Given the description of an element on the screen output the (x, y) to click on. 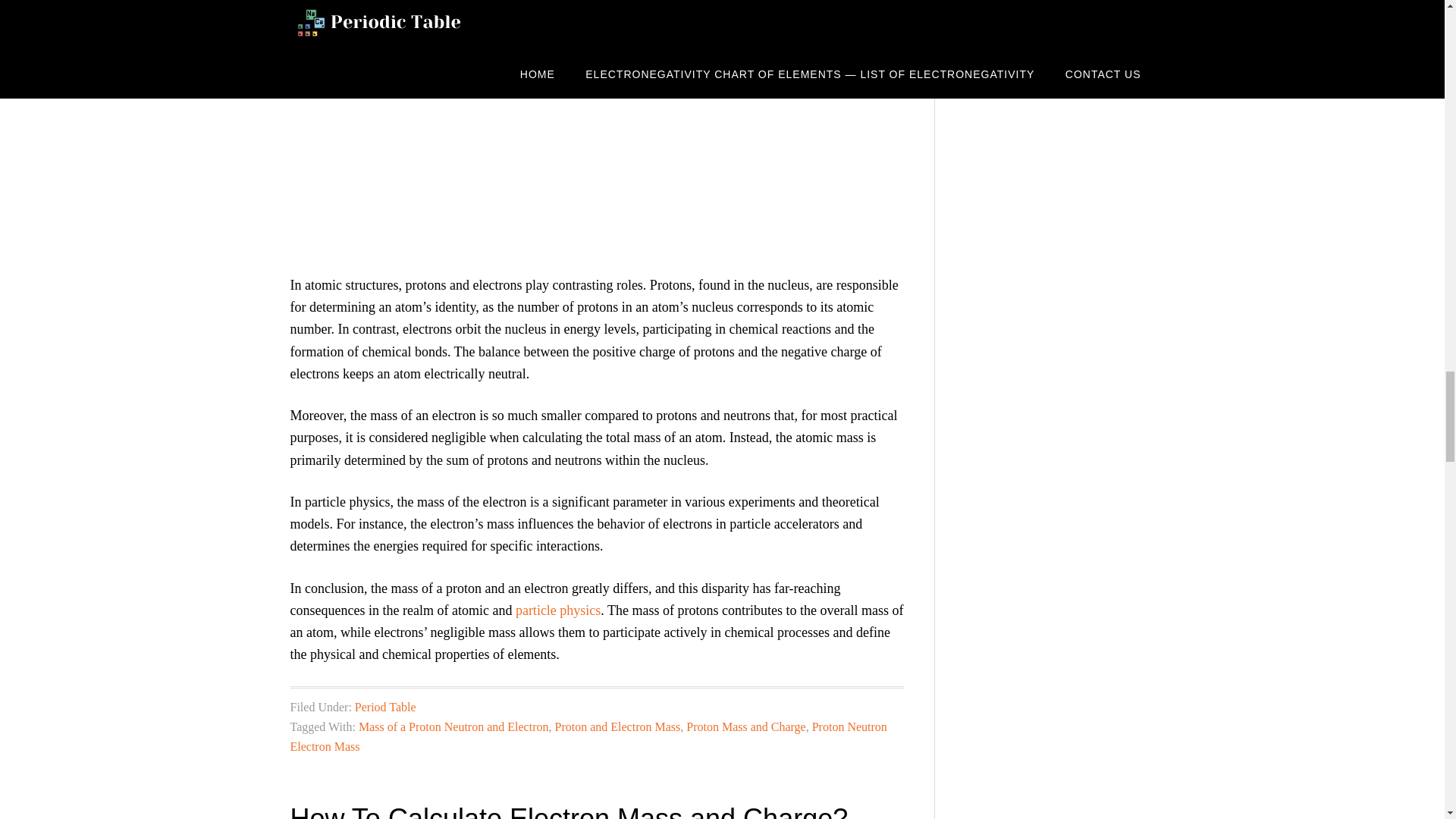
Proton Neutron Electron Mass (587, 736)
Proton Mass and Charge (745, 726)
Proton and Electron Mass (616, 726)
Mass of a Proton Neutron and Electron (453, 726)
particle physics (557, 610)
Period Table (385, 707)
How To Calculate Electron Mass and Charge? (568, 811)
